Given the description of an element on the screen output the (x, y) to click on. 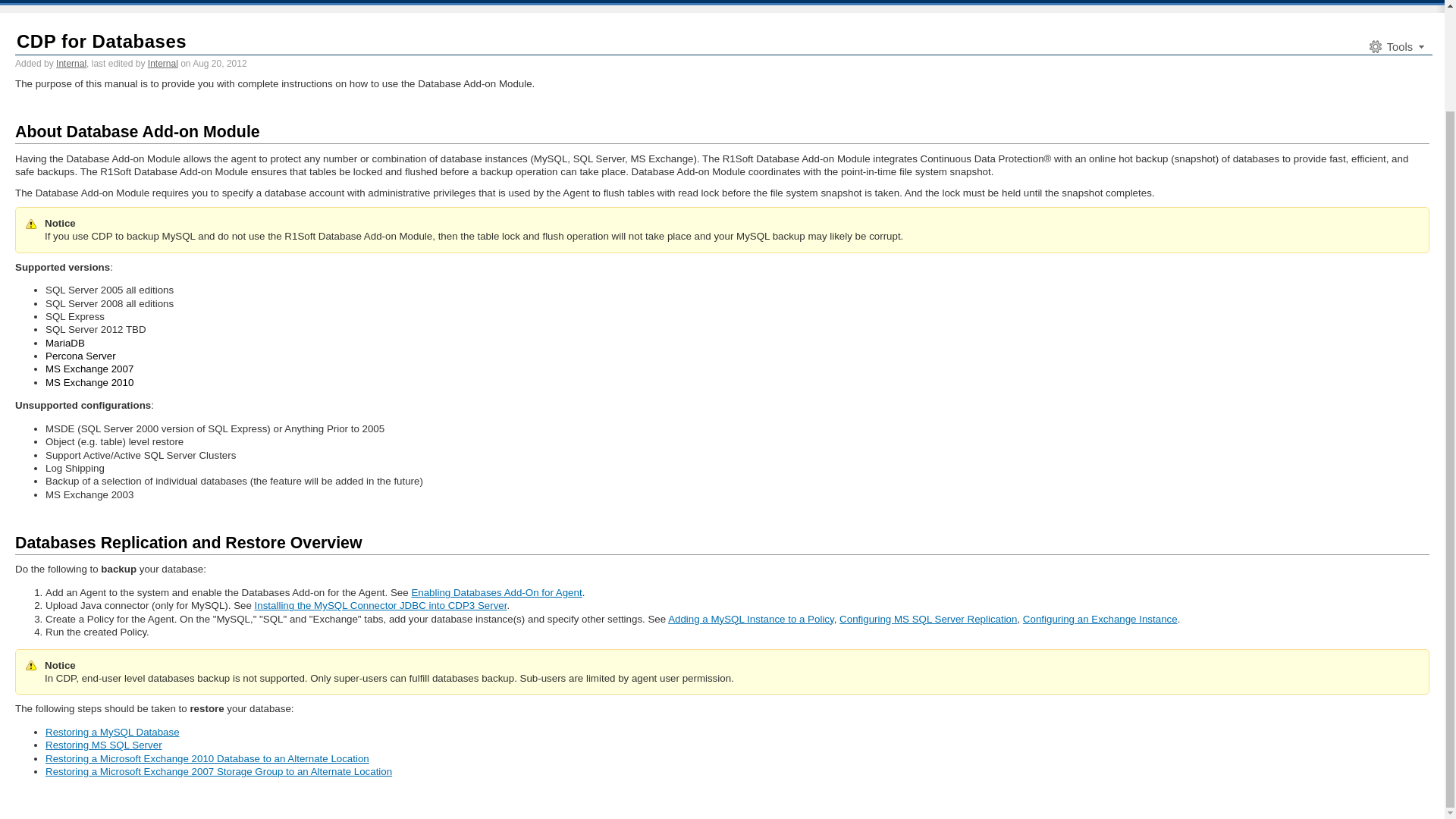
Internal (162, 63)
CDP for Databases (101, 41)
Internal (70, 63)
Browse (1235, 1)
Tools (1395, 47)
Log In (1278, 1)
